Given the description of an element on the screen output the (x, y) to click on. 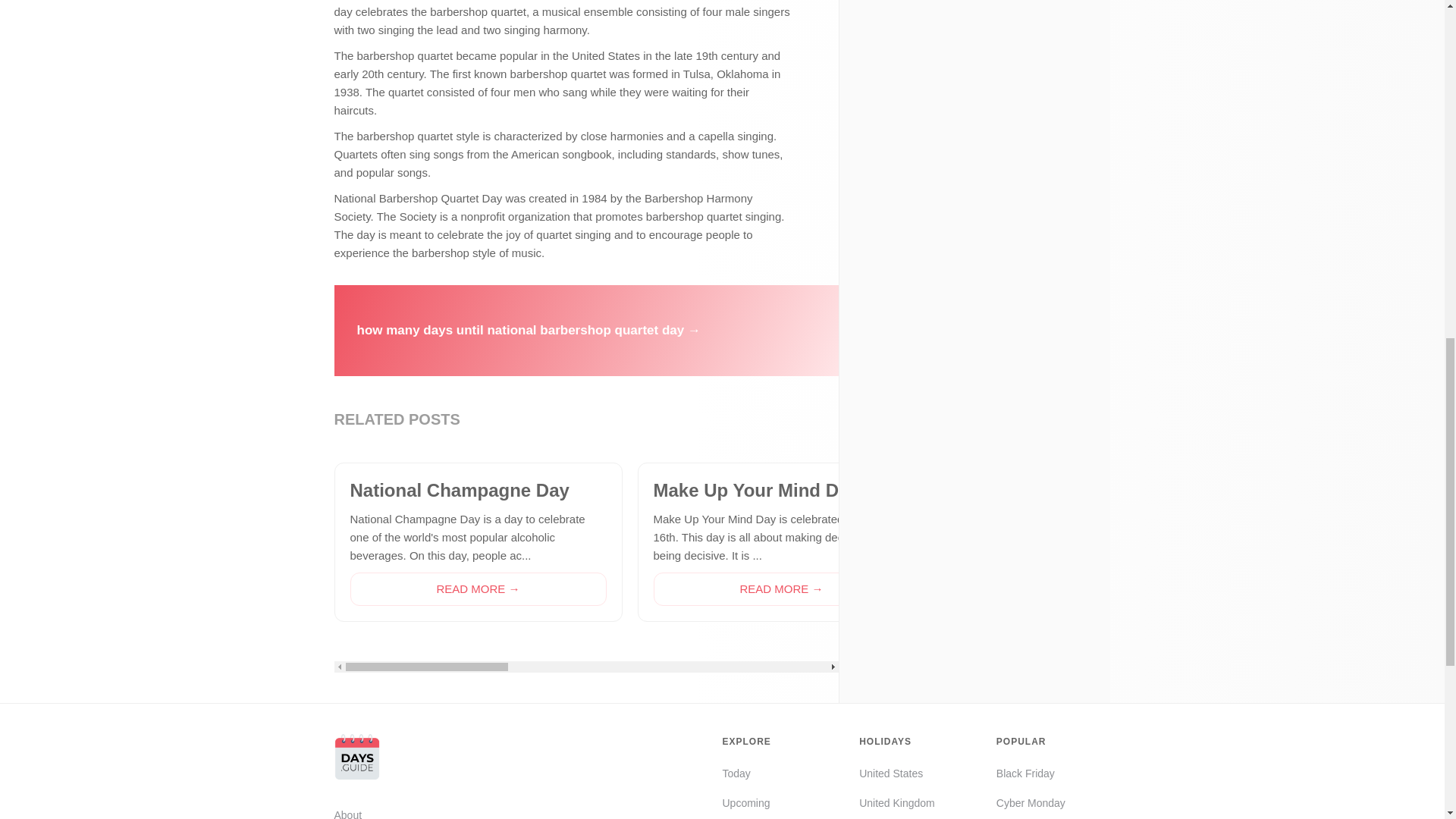
United Kingdom (896, 802)
United States (896, 773)
About (384, 812)
Today (748, 773)
Upcoming (748, 802)
